Given the description of an element on the screen output the (x, y) to click on. 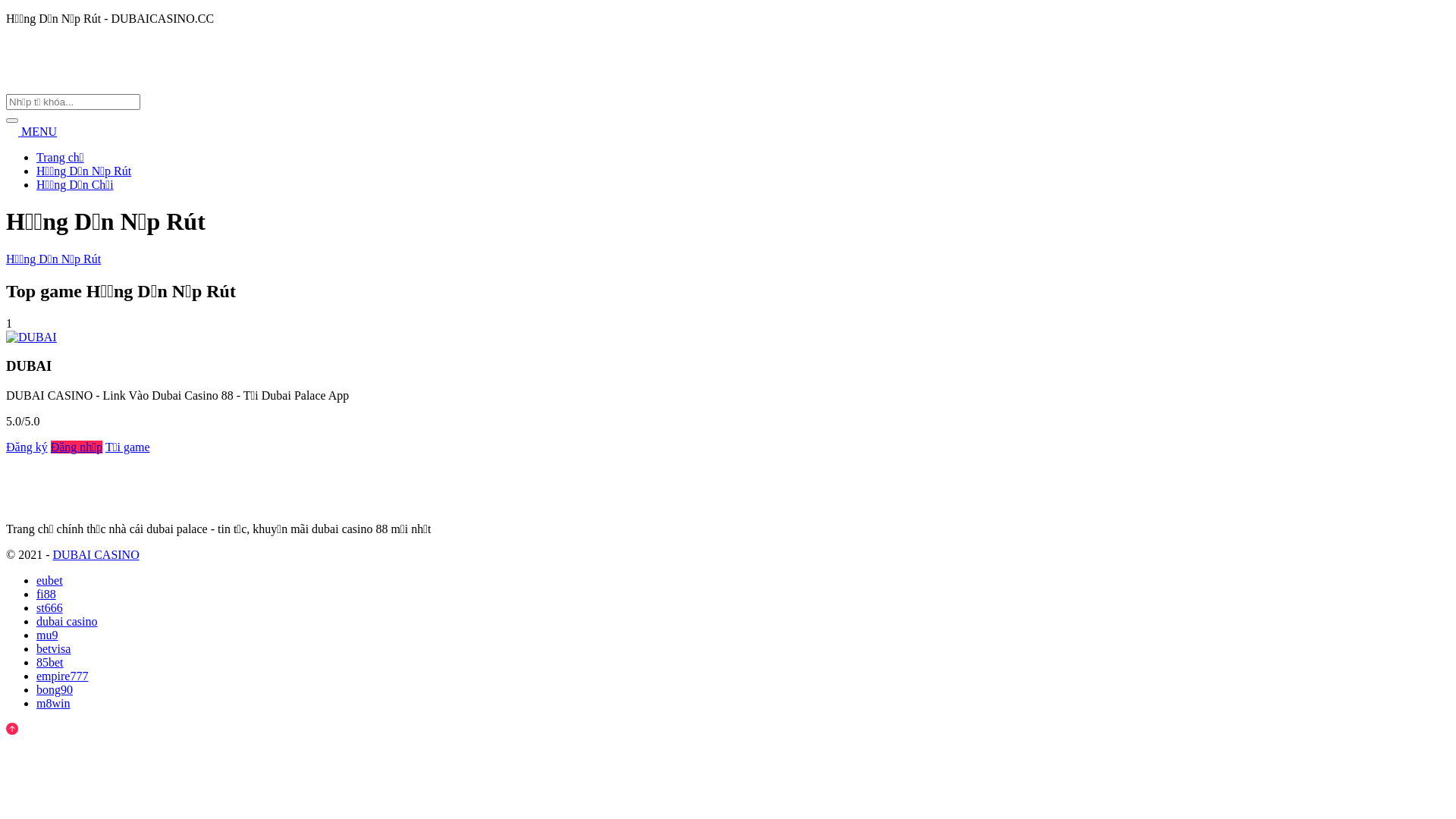
MENU Element type: text (31, 131)
85bet Element type: text (49, 661)
fi88 Element type: text (46, 593)
DUBAI CASINO Element type: hover (112, 502)
DUBAI CASINO Element type: text (95, 554)
bong90 Element type: text (54, 689)
eubet Element type: text (49, 580)
m8win Element type: text (52, 702)
empire777 Element type: text (61, 675)
dubai casino Element type: text (66, 621)
DUBAI Element type: hover (31, 336)
mu9 Element type: text (46, 634)
betvisa Element type: text (53, 648)
st666 Element type: text (49, 607)
